Given the description of an element on the screen output the (x, y) to click on. 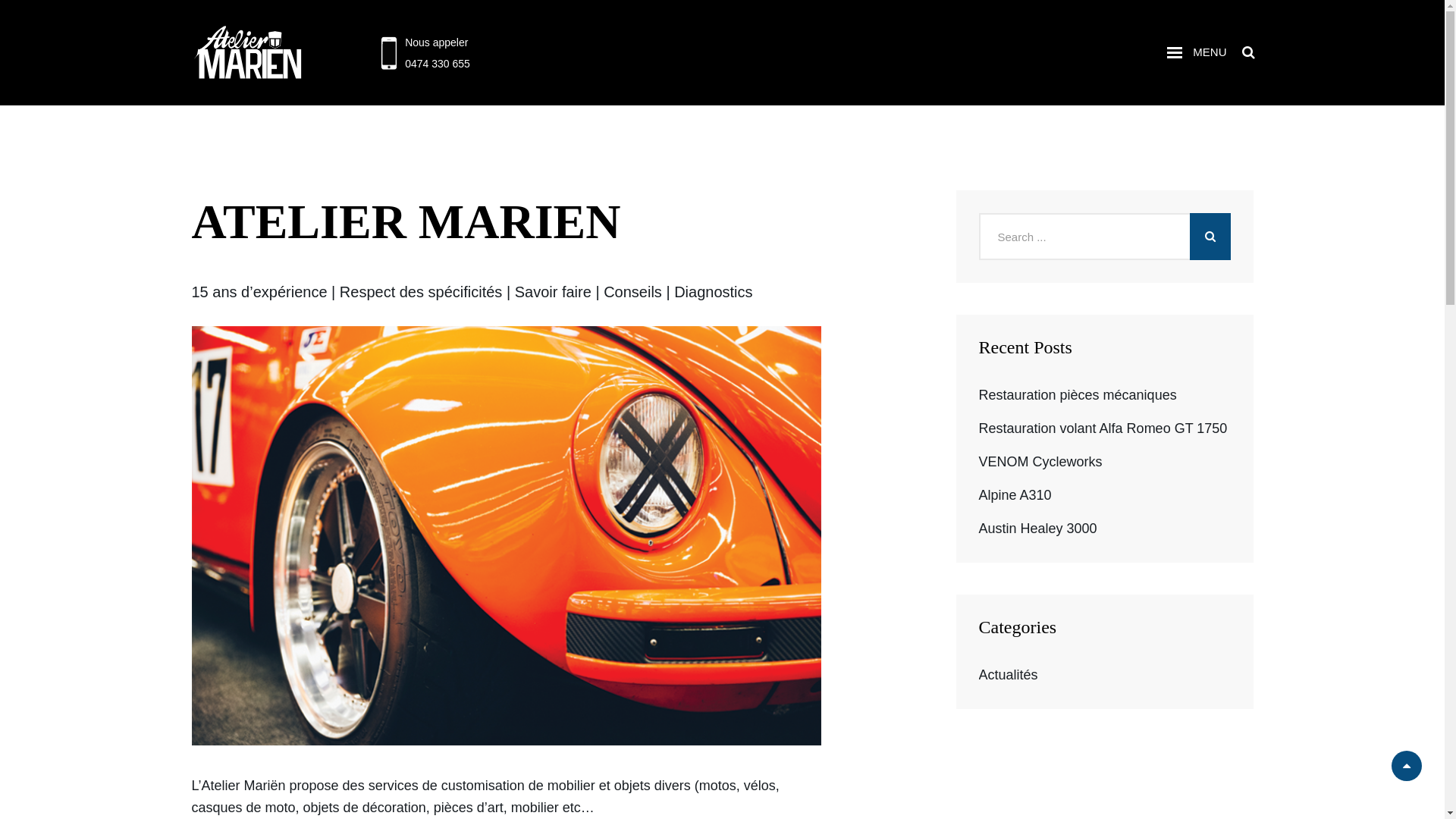
VENOM Cycleworks Element type: text (1039, 461)
Alpine A310 Element type: text (1014, 494)
Nous appeler
0474 330 655 Element type: text (437, 52)
Austin Healey 3000 Element type: text (1037, 528)
SEARCH Element type: text (1247, 52)
Restauration volant Alfa Romeo GT 1750 Element type: text (1102, 428)
MENU Element type: text (1196, 52)
Scroll Up Element type: text (1406, 765)
Search for: Element type: hover (1104, 236)
